Given the description of an element on the screen output the (x, y) to click on. 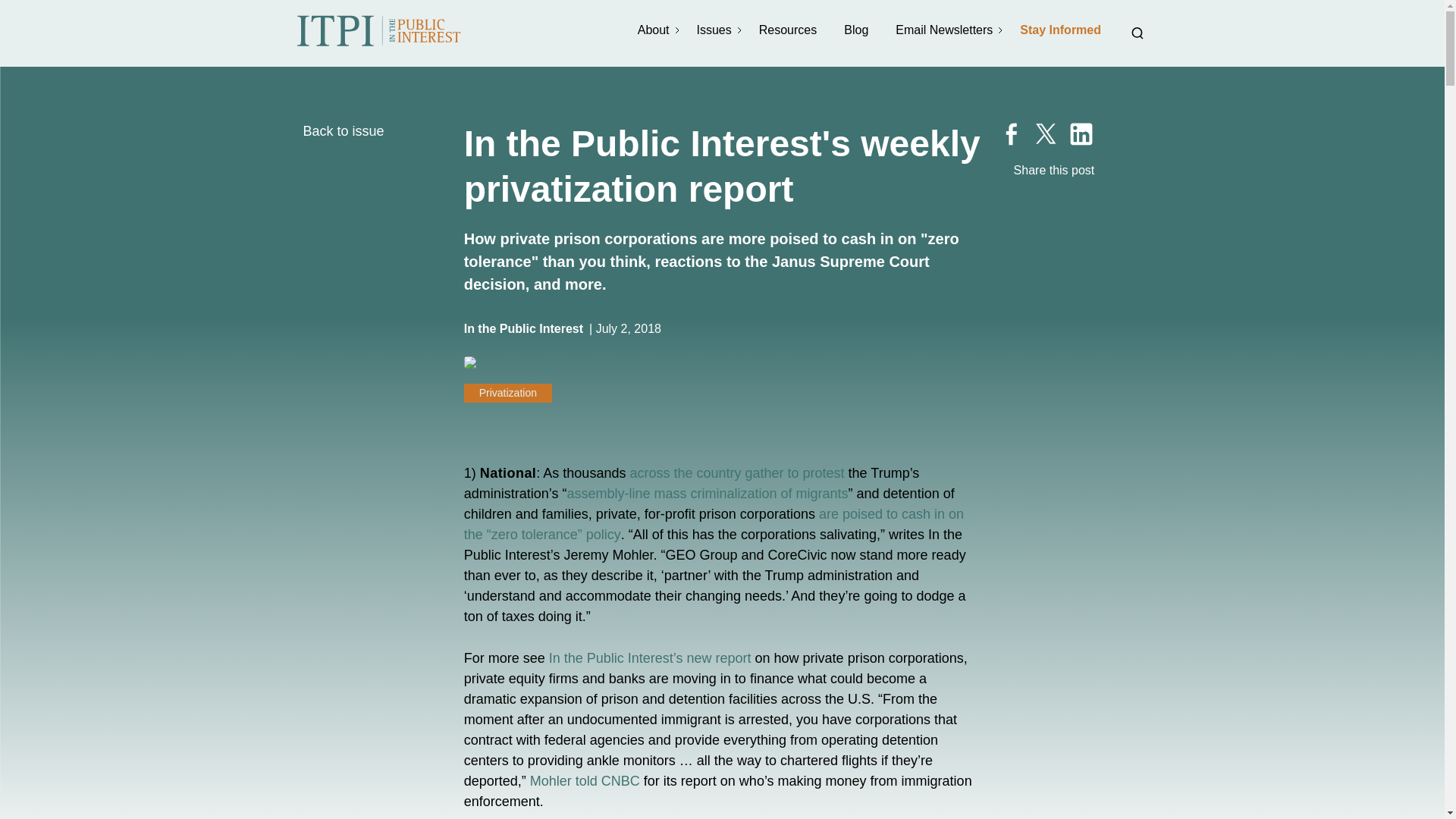
Resources (788, 29)
Stay Informed (1061, 29)
Blog (857, 29)
Email Newsletters (945, 29)
Issues (715, 29)
About (655, 29)
